Given the description of an element on the screen output the (x, y) to click on. 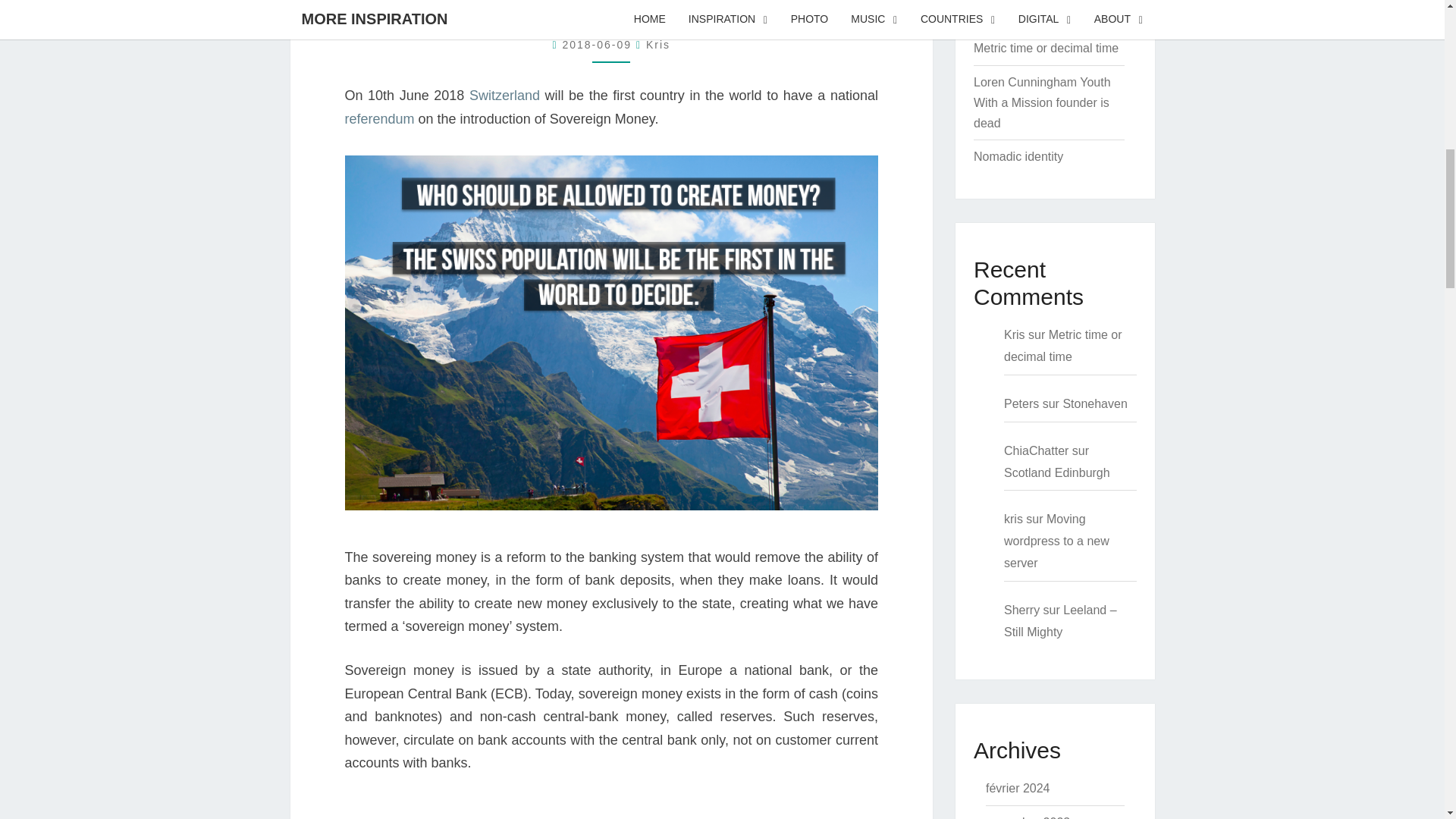
Pink granit coast in north Britany (1040, 10)
Kris (657, 44)
Switzerland (504, 95)
REFERENDUM OF SOVEREIGN MONEY IN SWITZERLAND (611, 12)
referendum (378, 118)
2018-06-09 (599, 44)
Voir tous les articles de  kris (657, 44)
Metric time or decimal time (1046, 47)
12:05   (599, 44)
